Given the description of an element on the screen output the (x, y) to click on. 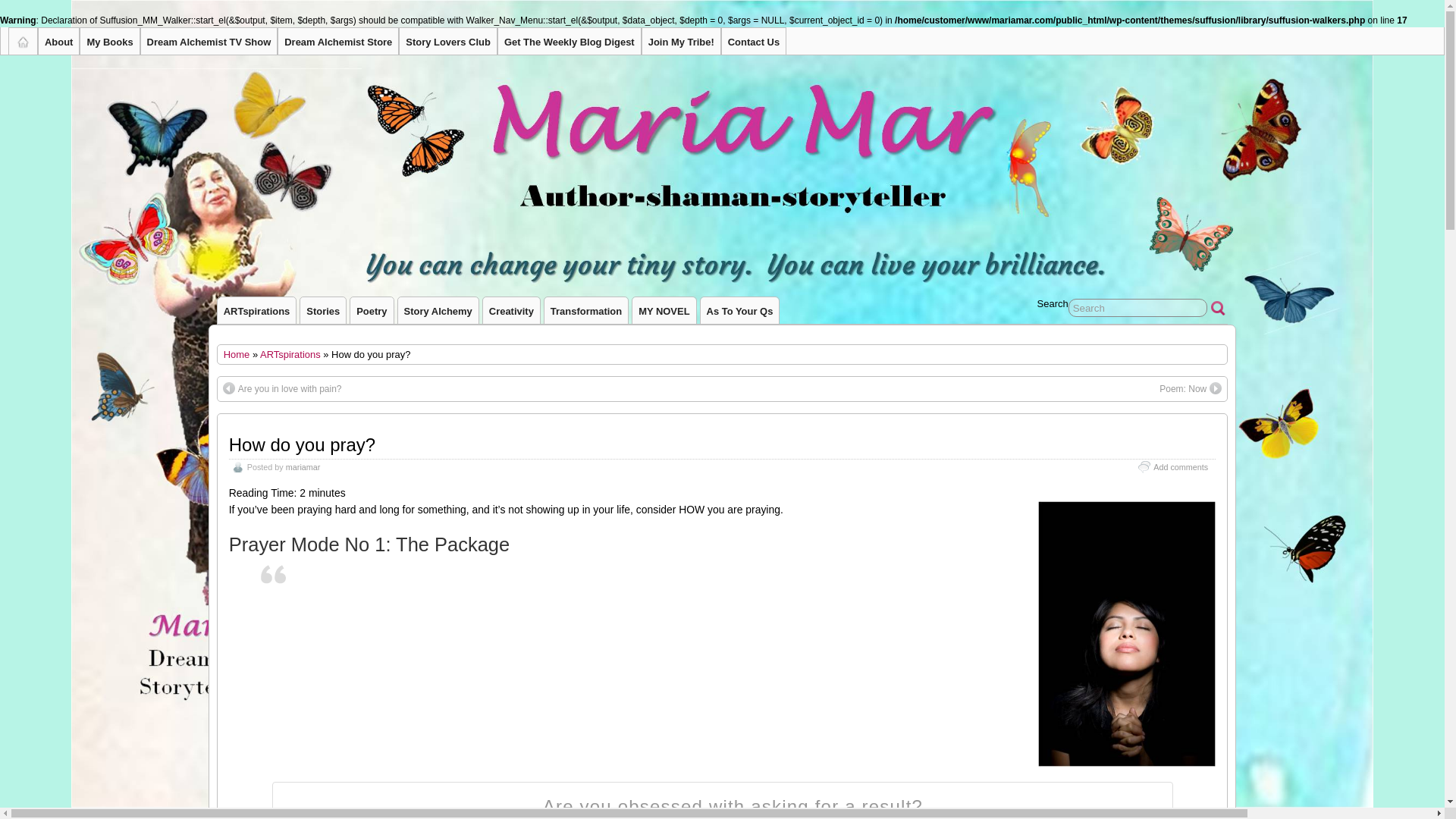
Transformation (585, 310)
Stories (322, 310)
ARTspirations (256, 310)
Get the weekly Blog Digest (568, 40)
Transformation (585, 310)
Home (237, 354)
How do you pray? (301, 444)
My Books (109, 40)
Home (237, 354)
Search (1137, 307)
